Given the description of an element on the screen output the (x, y) to click on. 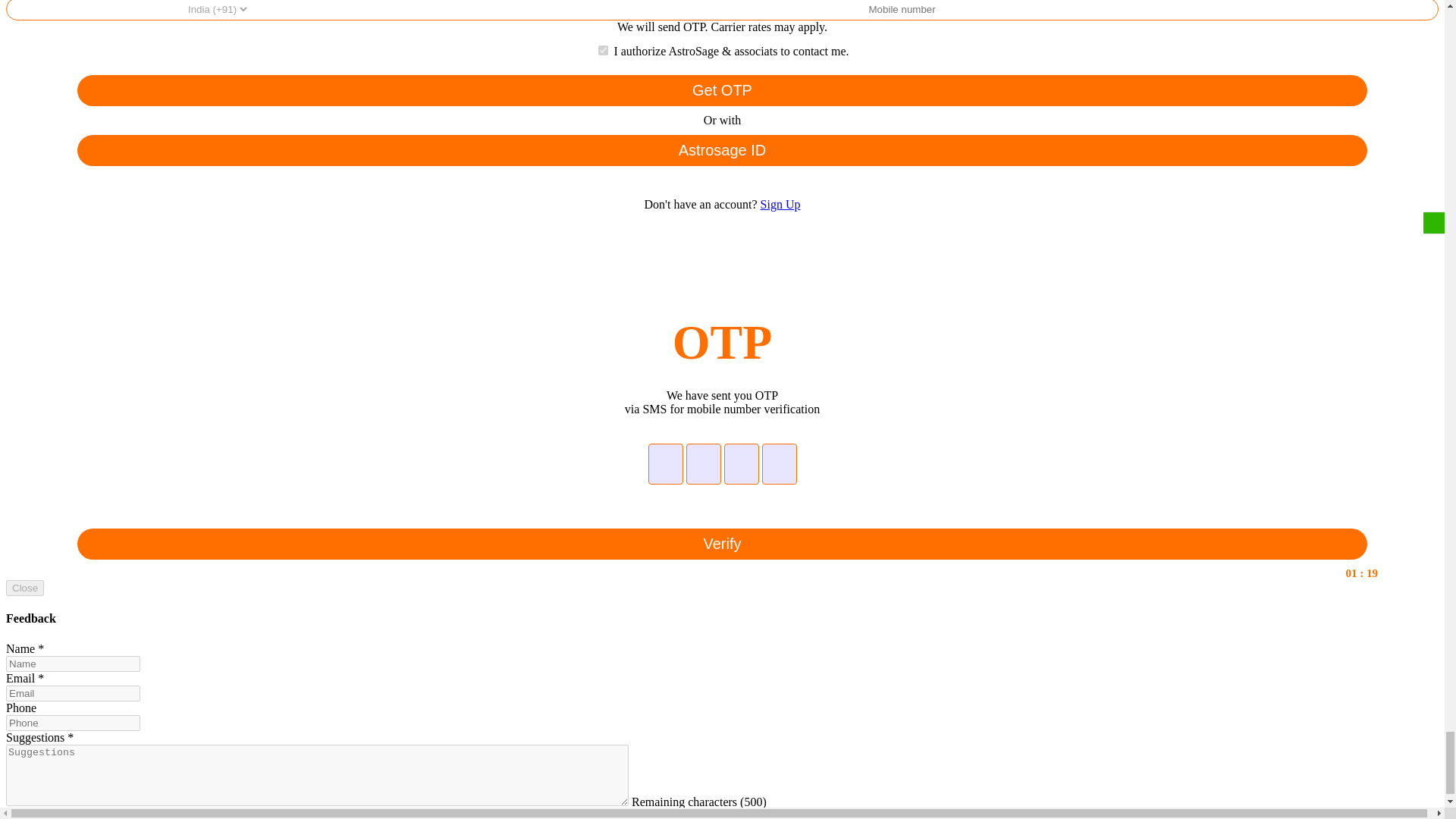
on (603, 50)
